Given the description of an element on the screen output the (x, y) to click on. 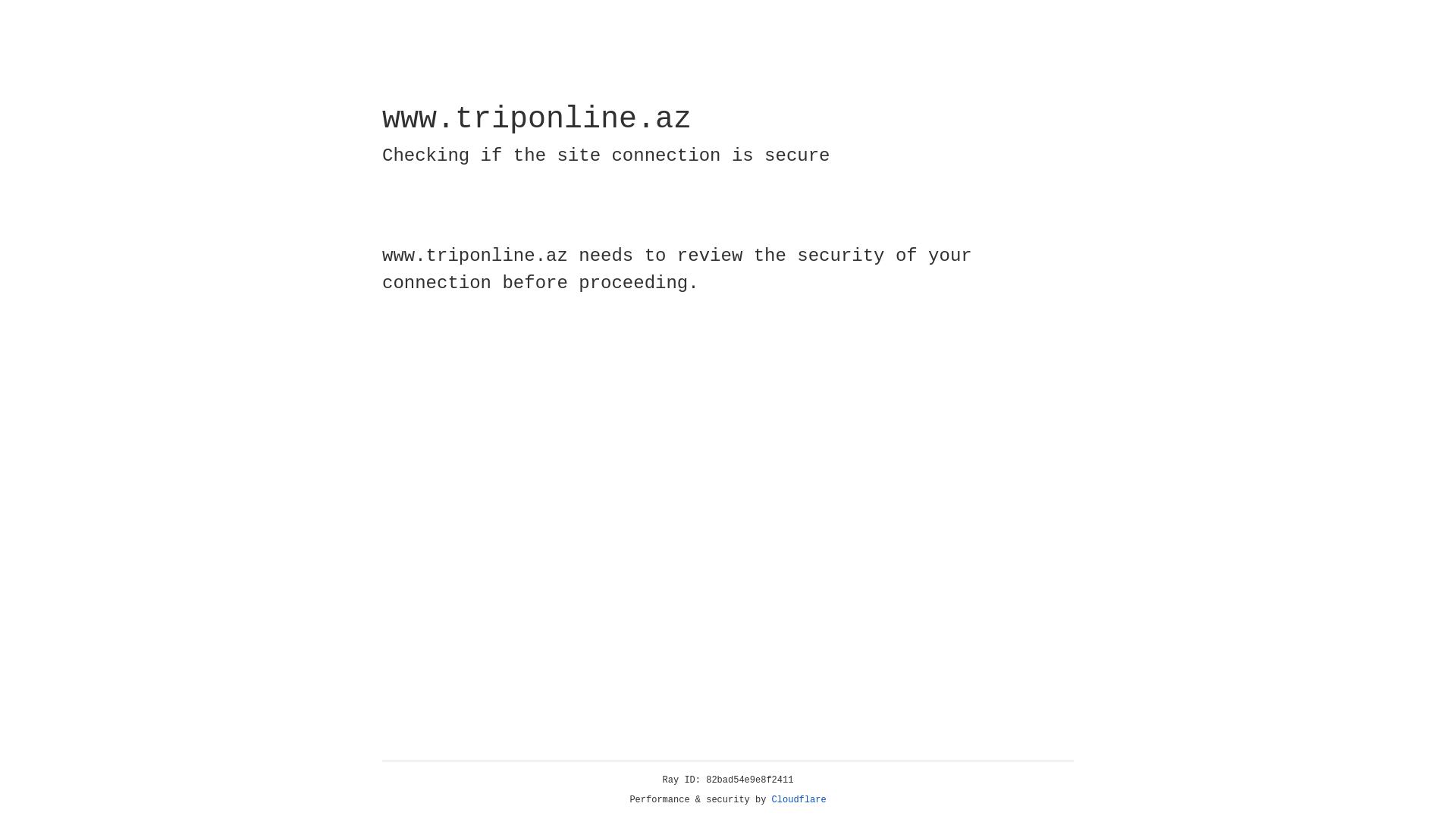
Cloudflare Element type: text (798, 799)
